Given the description of an element on the screen output the (x, y) to click on. 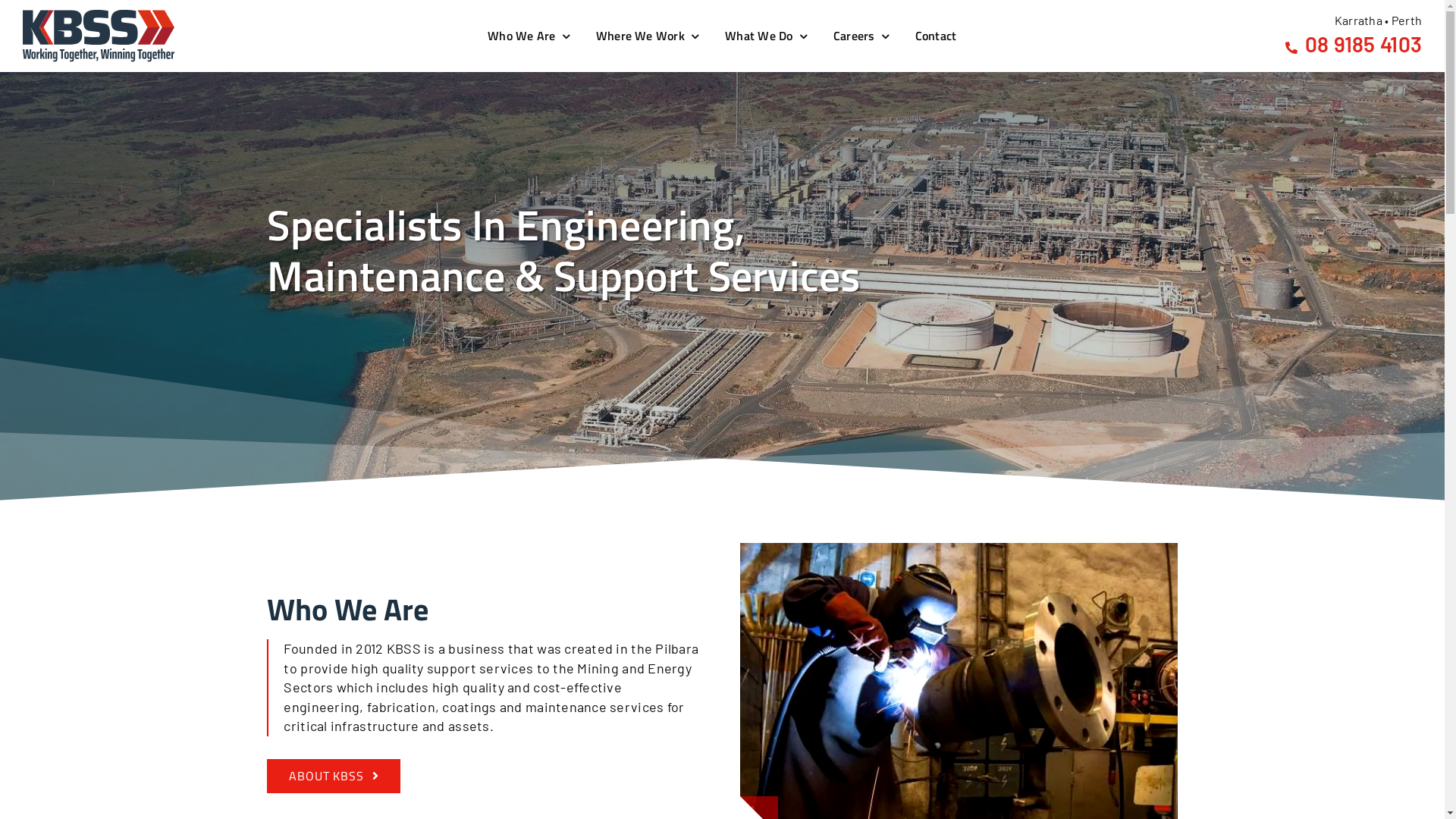
08 9185 4103 Element type: text (1353, 43)
Who We Are Element type: text (530, 36)
Karratha Element type: text (1358, 19)
Careers Element type: text (862, 36)
Where We Work Element type: text (648, 36)
Perth Element type: text (1406, 19)
Contact Element type: text (937, 36)
ABOUT KBSS Element type: text (333, 776)
What We Do Element type: text (767, 36)
